Given the description of an element on the screen output the (x, y) to click on. 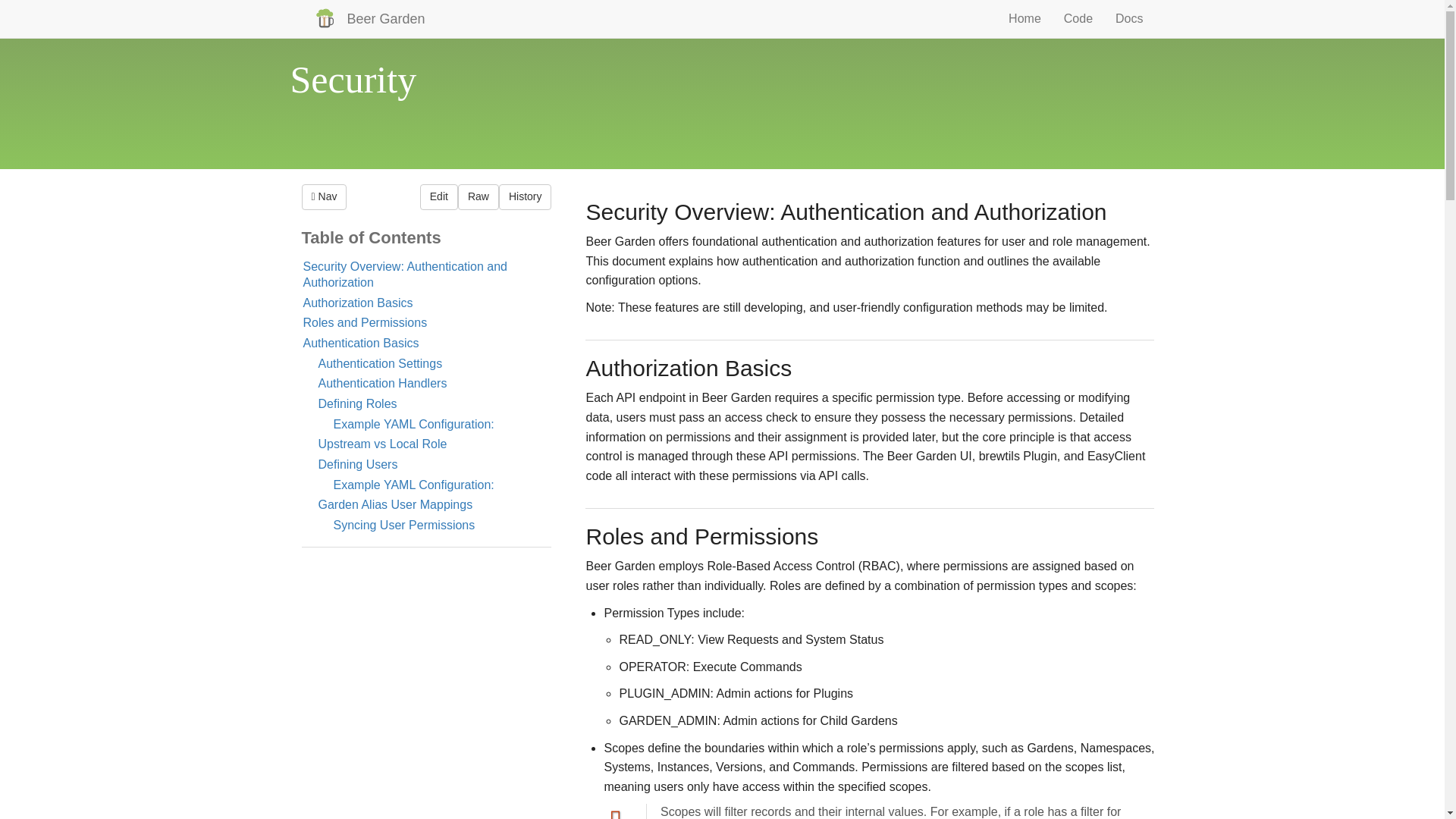
Code (1077, 18)
Garden Alias User Mappings (395, 504)
Beer Garden (362, 18)
Roles and Permissions (365, 322)
Raw (478, 196)
Defining Roles (357, 403)
Upstream vs Local Role (382, 443)
Defining Users (357, 463)
Authorization Basics (357, 302)
Edit (439, 196)
